Given the description of an element on the screen output the (x, y) to click on. 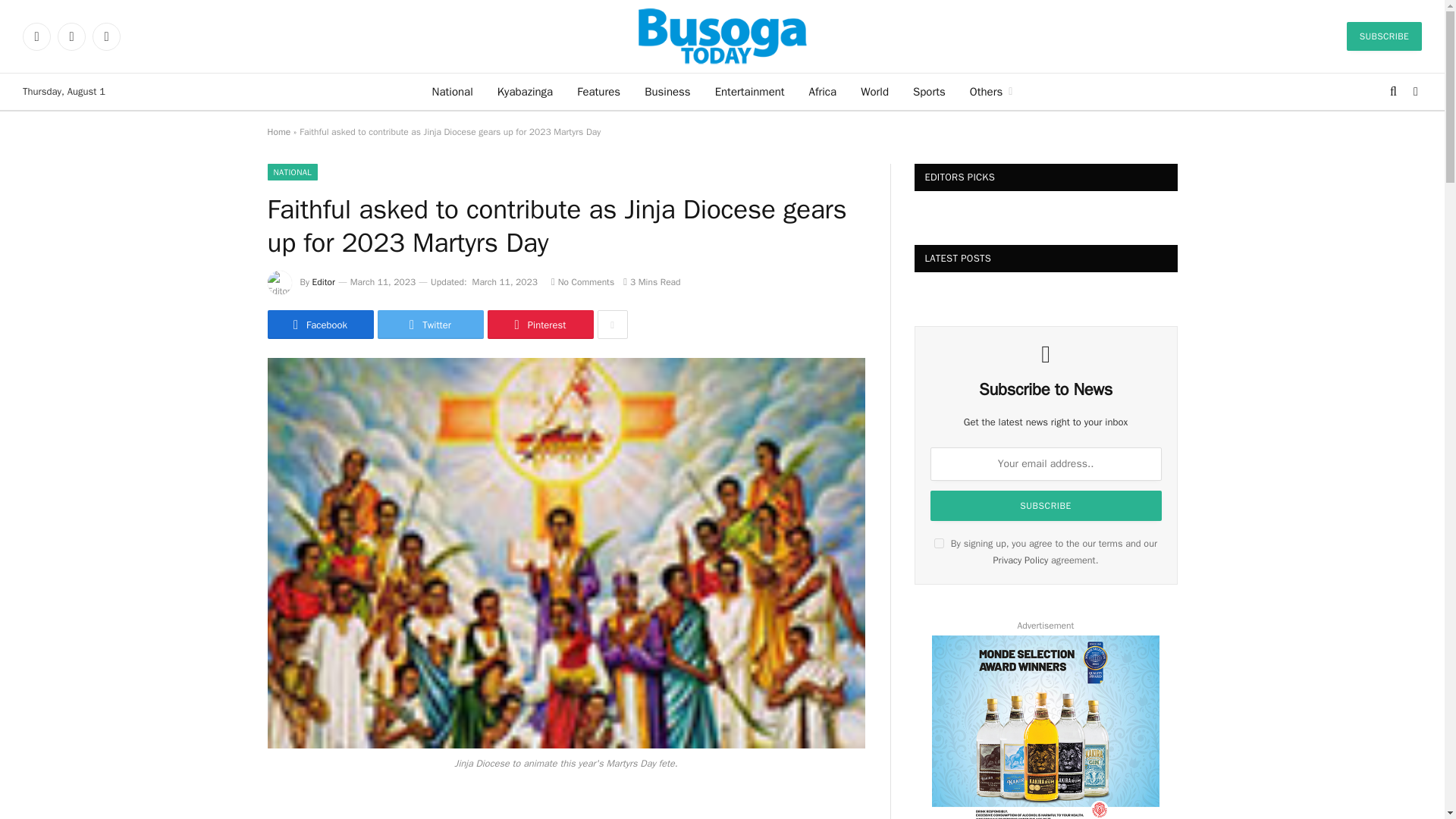
Home (277, 132)
Subscribe (1045, 505)
Entertainment (749, 91)
Kyabazinga (524, 91)
Africa (822, 91)
Instagram (106, 36)
Sports (929, 91)
Twitter (71, 36)
Switch to Dark Design - easier on eyes. (1414, 91)
World (874, 91)
National (452, 91)
Busoga Today (722, 36)
Business (667, 91)
SUBSCRIBE (1384, 36)
Posts by Editor (323, 282)
